Given the description of an element on the screen output the (x, y) to click on. 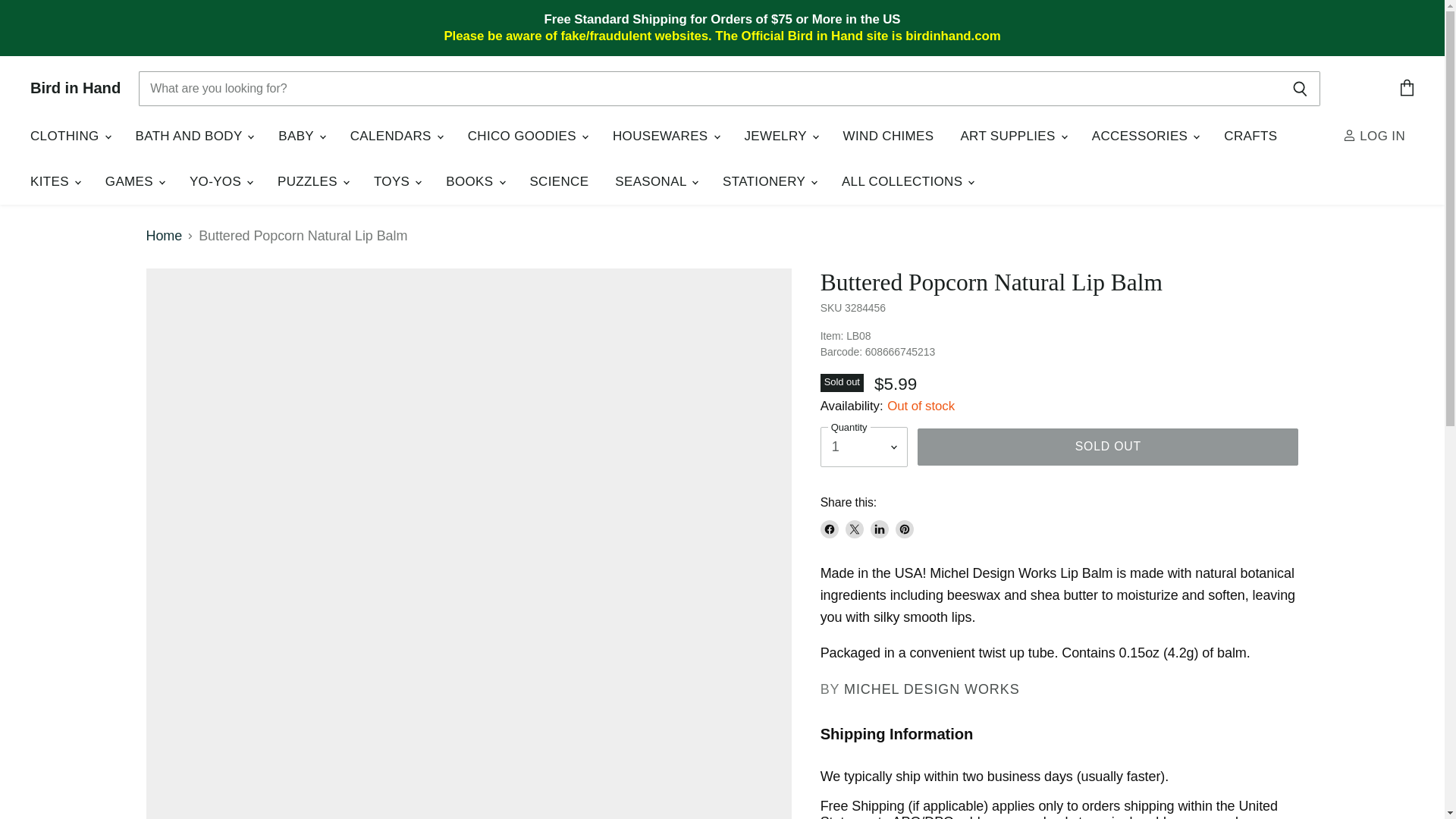
CALENDARS (395, 136)
HOUSEWARES (665, 136)
MICHEL DESIGN WORKS (931, 688)
BABY (300, 136)
CHICO GOODIES (526, 136)
Bird in Hand (75, 88)
BATH AND BODY (193, 136)
CLOTHING (69, 136)
View cart (1406, 88)
